Given the description of an element on the screen output the (x, y) to click on. 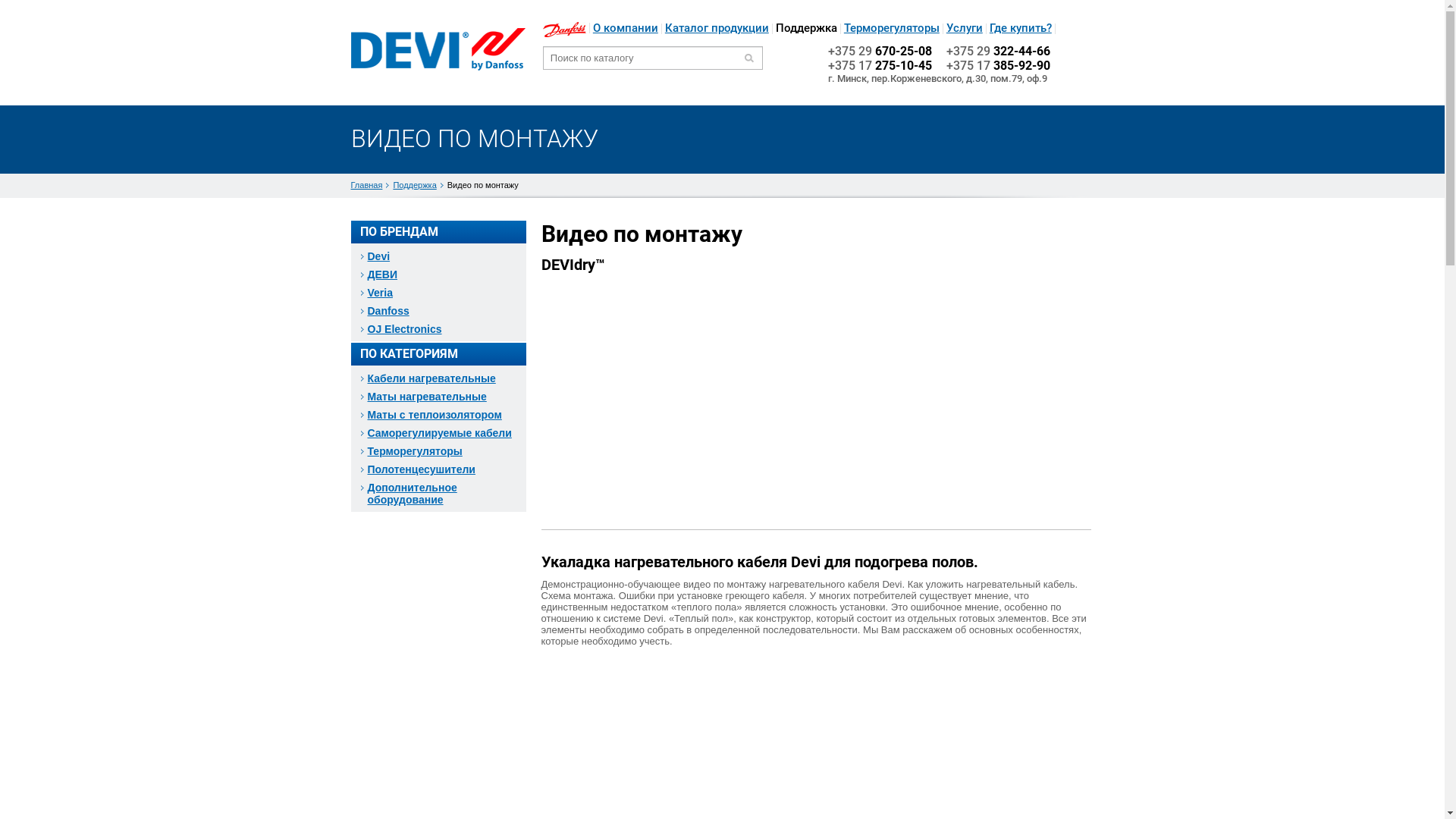
Danfoss Element type: text (437, 310)
Danfoss Element type: text (564, 29)
Devi Element type: text (437, 256)
OJ Electronics Element type: text (437, 329)
Veria Element type: text (437, 292)
+375 29 670-25-08 Element type: text (879, 50)
+375 29 322-44-66 Element type: text (998, 50)
+375 17 275-10-45 Element type: text (879, 65)
+375 17 385-92-90 Element type: text (998, 65)
